Given the description of an element on the screen output the (x, y) to click on. 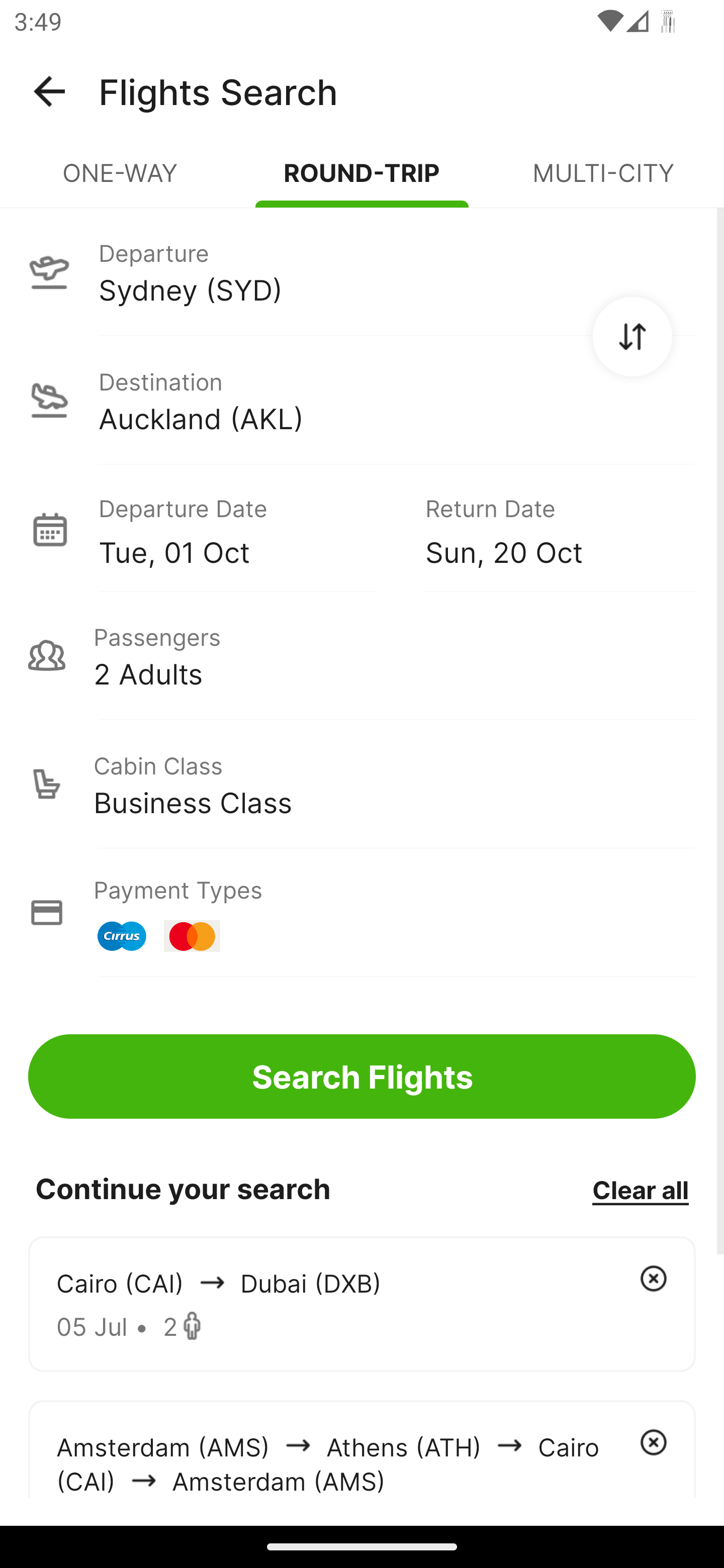
ONE-WAY (120, 180)
ROUND-TRIP (361, 180)
MULTI-CITY (603, 180)
Departure Sydney (SYD) (362, 270)
Destination Auckland (AKL) (362, 400)
Departure Date Tue, 01 Oct (247, 528)
Return Date Sun, 20 Oct (546, 528)
Passengers 2 Adults (362, 655)
Cabin Class Business Class (362, 783)
Payment Types (362, 912)
Search Flights (361, 1075)
Clear all (640, 1189)
Cairo (CAI)  arrowIcon  Dubai (DXB) 05 Jul •  2  (361, 1303)
